Given the description of an element on the screen output the (x, y) to click on. 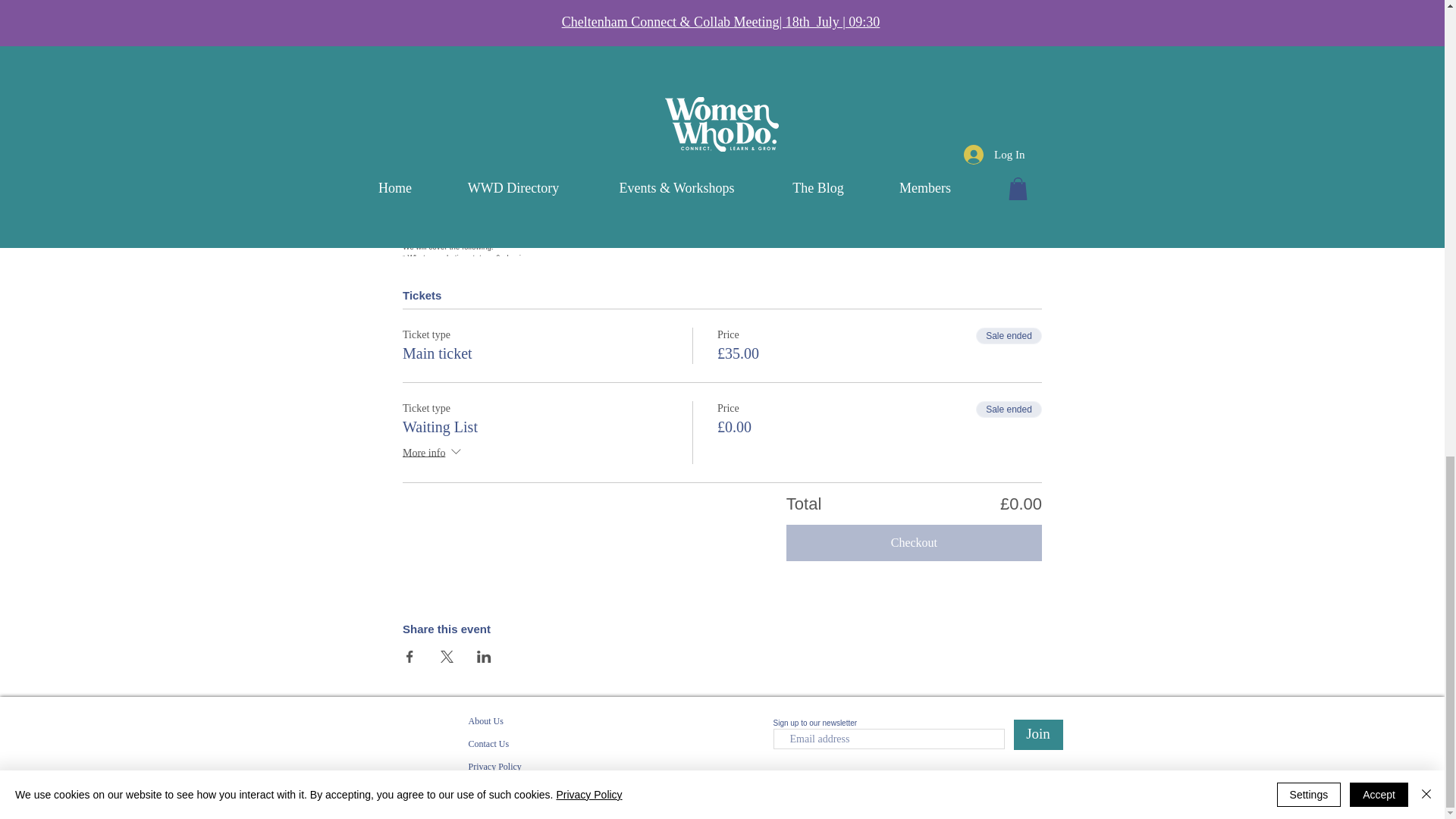
More info (433, 453)
Privacy Policy (494, 766)
Join (1037, 734)
Checkout (914, 542)
